Given the description of an element on the screen output the (x, y) to click on. 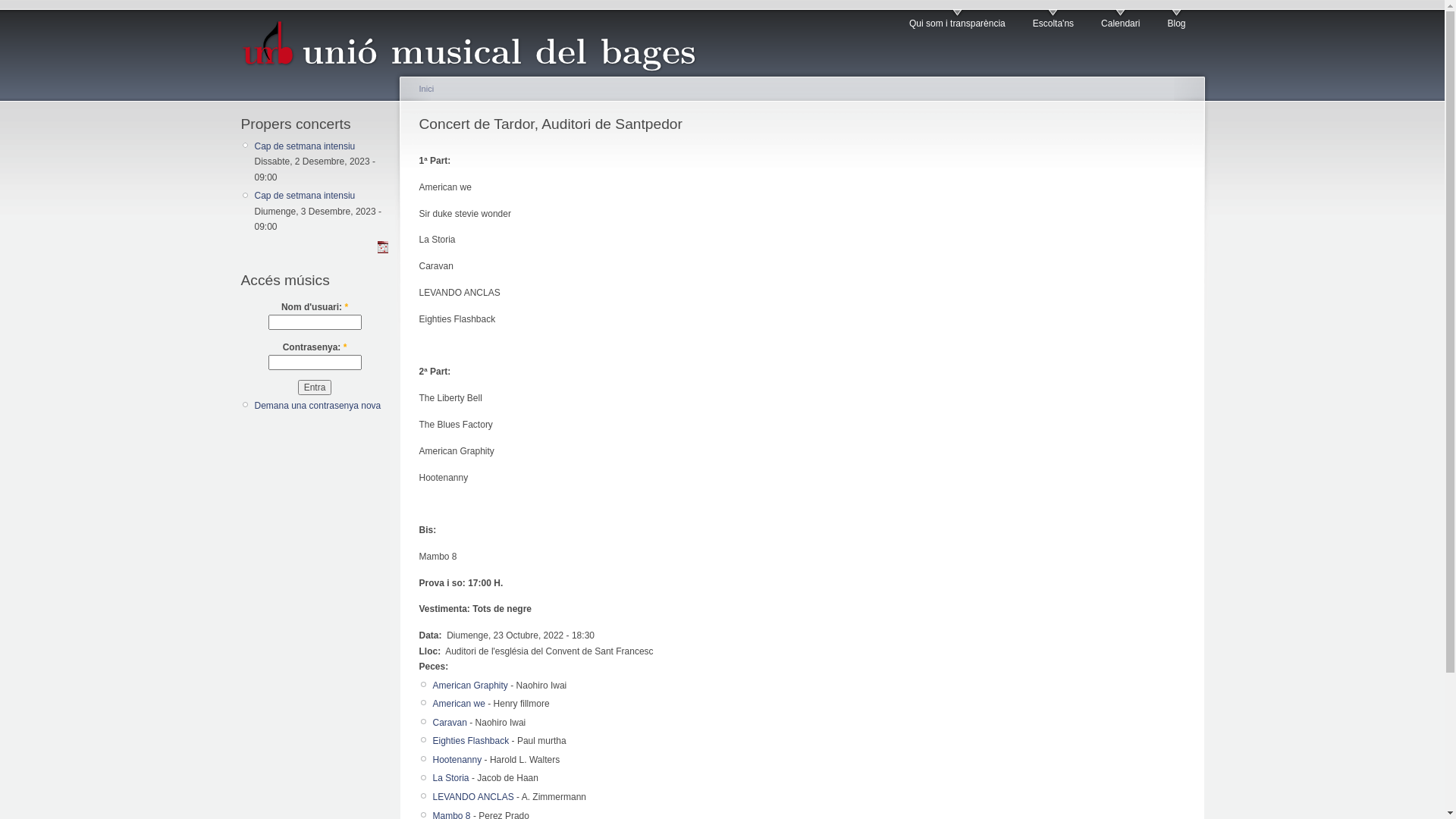
Afegeix al calendari Element type: hover (382, 247)
Calendari Element type: text (1120, 20)
Cap de setmana intensiu Element type: text (304, 146)
American we Element type: text (458, 703)
Caravan Element type: text (449, 722)
Hootenanny Element type: text (456, 759)
Eighties Flashback Element type: text (470, 740)
La Storia Element type: text (450, 777)
ical Element type: hover (382, 249)
Blog Element type: text (1176, 20)
Escolta'ns Element type: text (1052, 20)
Entra Element type: text (315, 387)
Cap de setmana intensiu Element type: text (304, 195)
American Graphity Element type: text (469, 685)
Inici Element type: text (425, 88)
Demana una contrasenya nova Element type: text (317, 405)
LEVANDO ANCLAS Element type: text (472, 796)
